Given the description of an element on the screen output the (x, y) to click on. 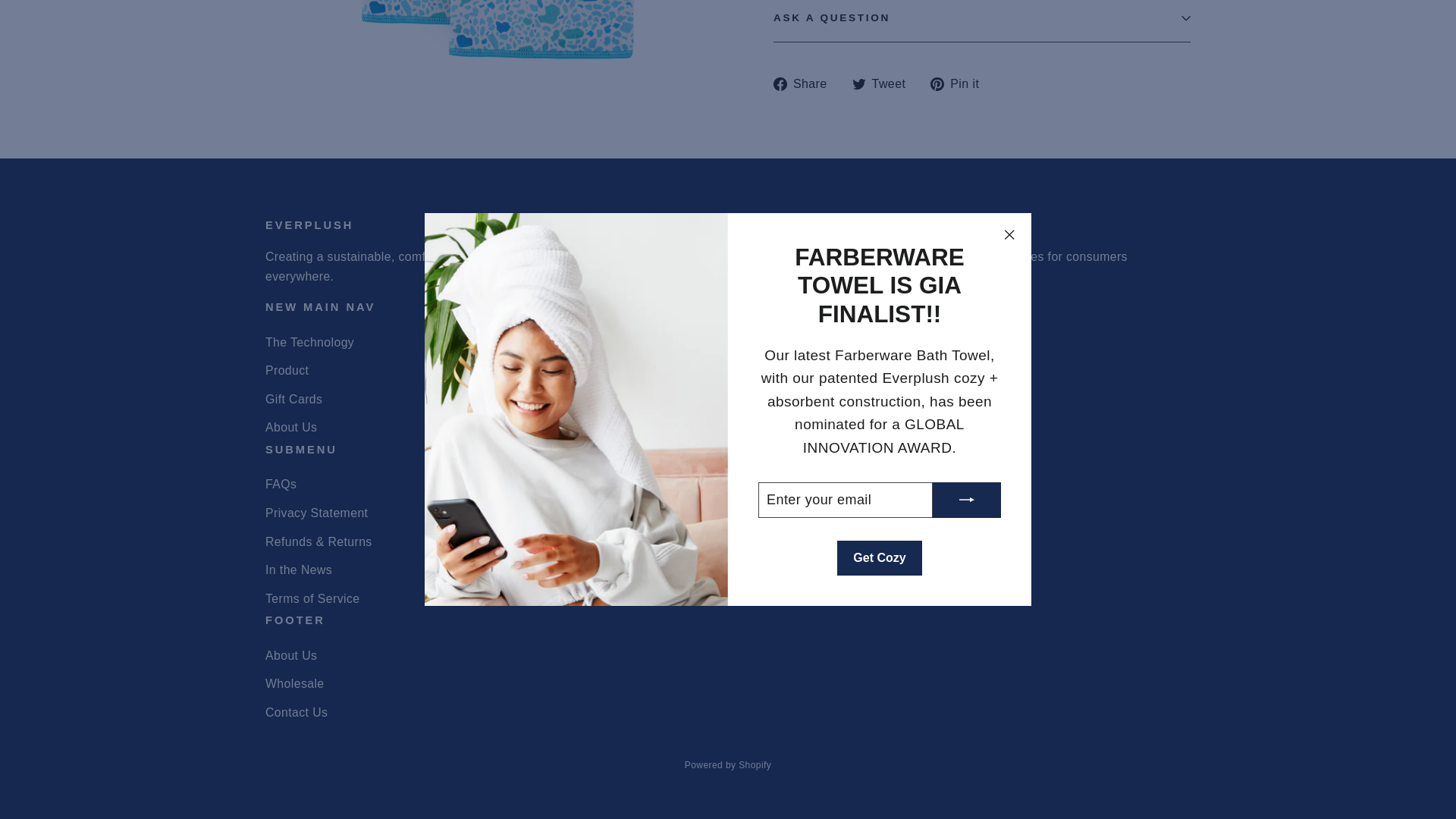
twitter (858, 83)
Tweet on Twitter (884, 83)
